Given the description of an element on the screen output the (x, y) to click on. 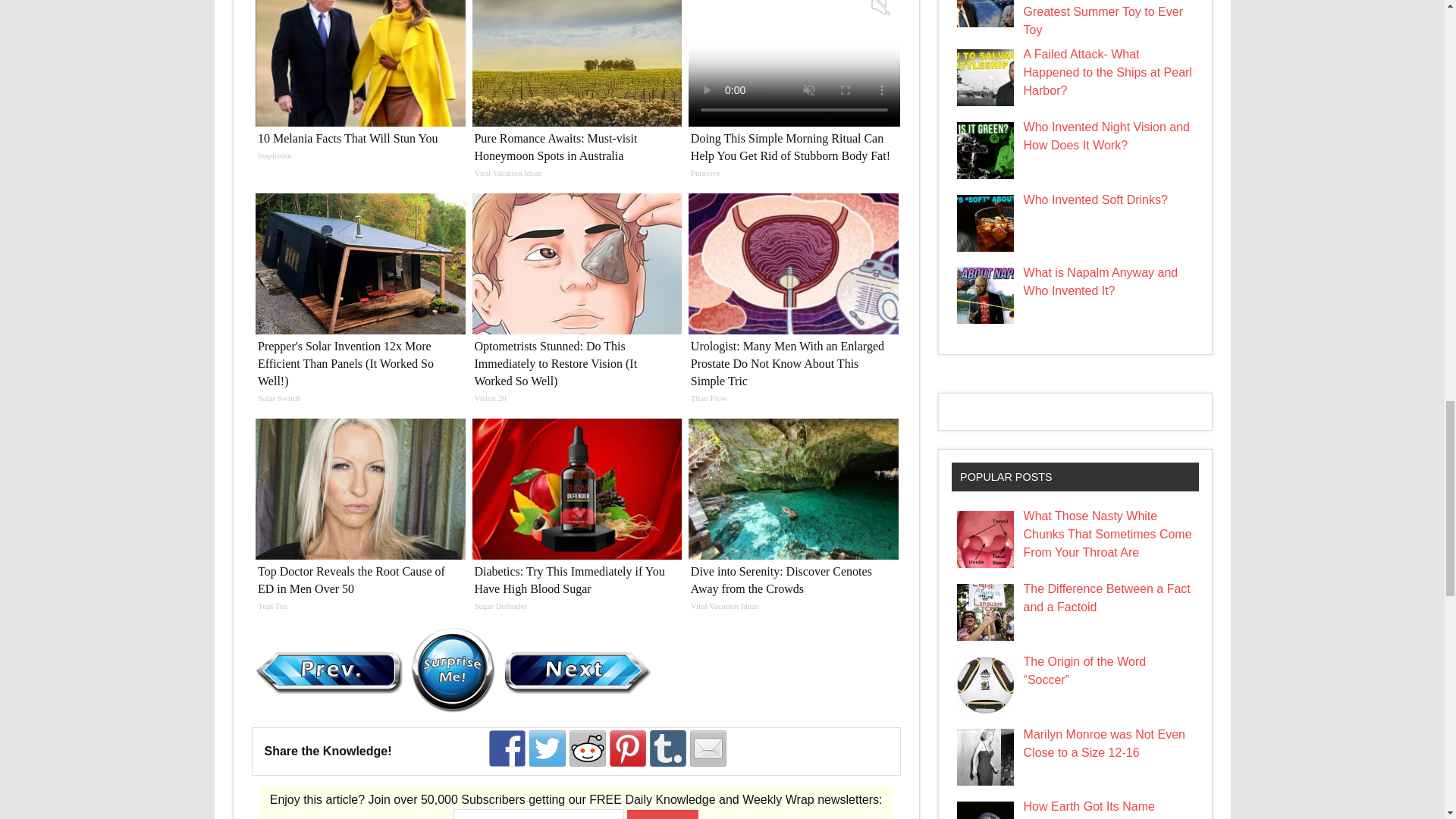
10 Melania Facts That Will Stun You (358, 85)
Subscribe (662, 814)
